Given the description of an element on the screen output the (x, y) to click on. 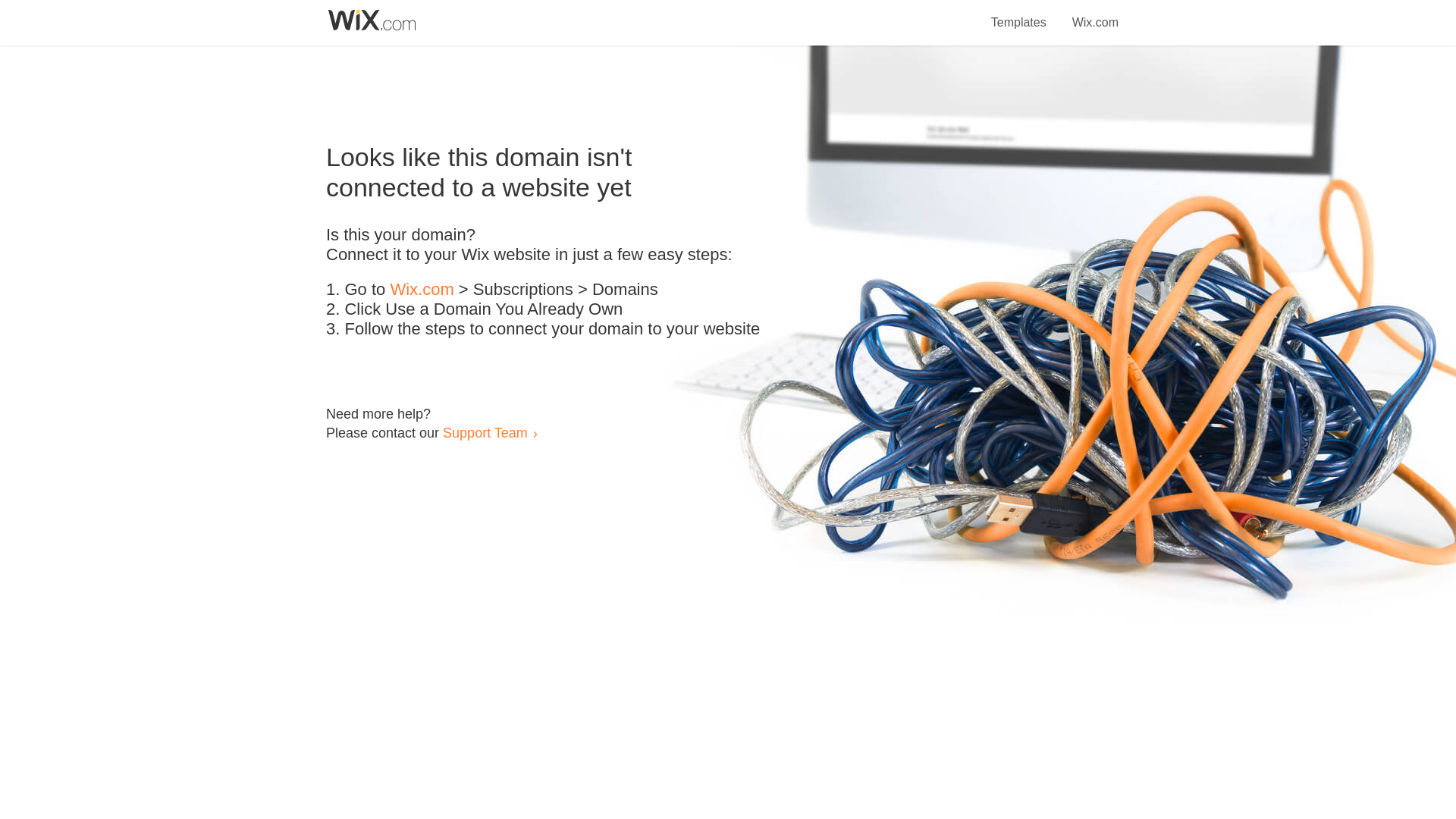
Support Team (484, 432)
Wix.com (421, 289)
Wix.com (1095, 14)
Templates (1018, 14)
